Given the description of an element on the screen output the (x, y) to click on. 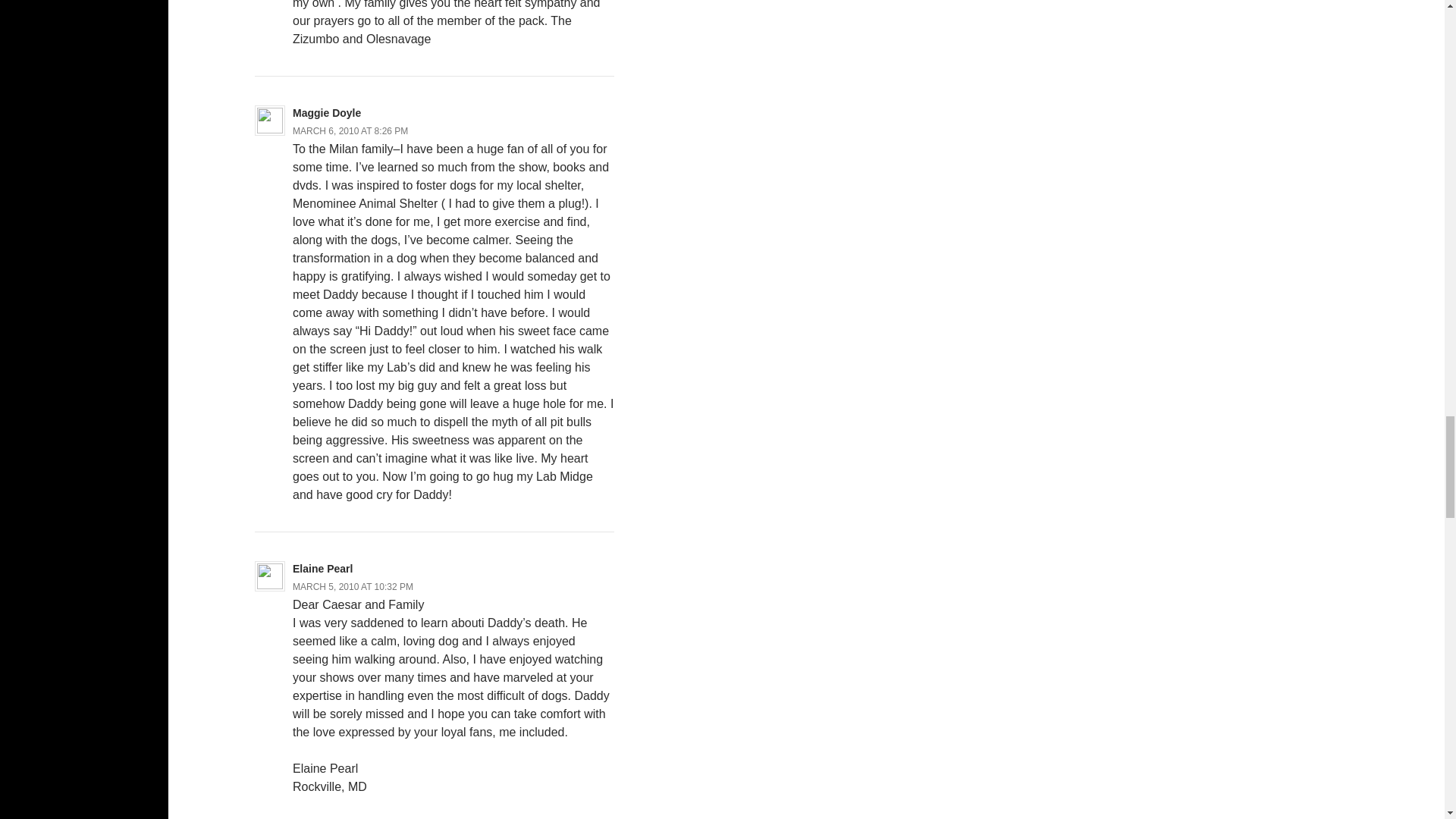
MARCH 5, 2010 AT 10:32 PM (352, 586)
MARCH 6, 2010 AT 8:26 PM (349, 131)
